Given the description of an element on the screen output the (x, y) to click on. 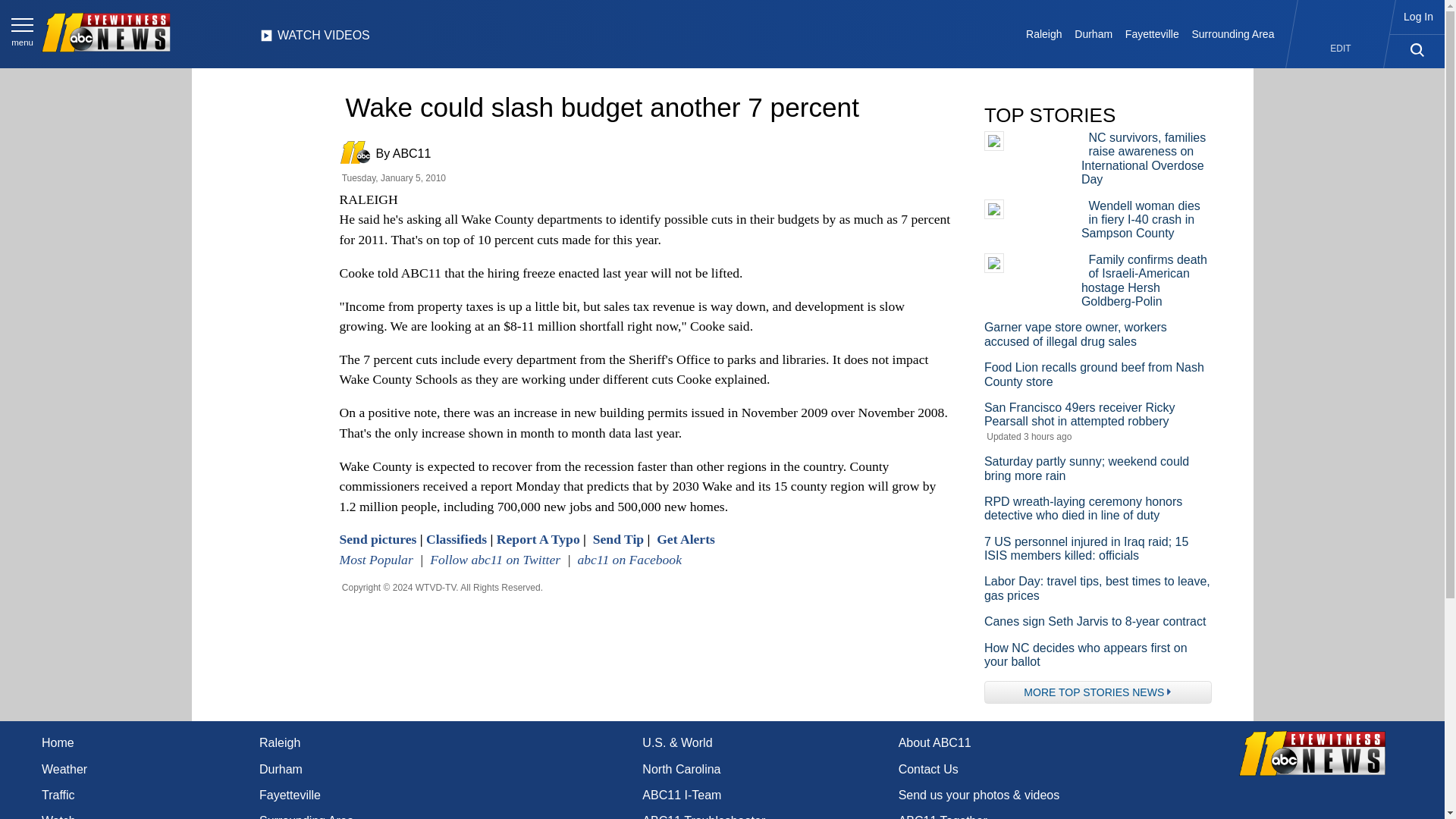
Surrounding Area (1233, 33)
Raleigh (1044, 33)
Durham (1093, 33)
Fayetteville (1151, 33)
EDIT (1340, 48)
WATCH VIDEOS (314, 39)
